Given the description of an element on the screen output the (x, y) to click on. 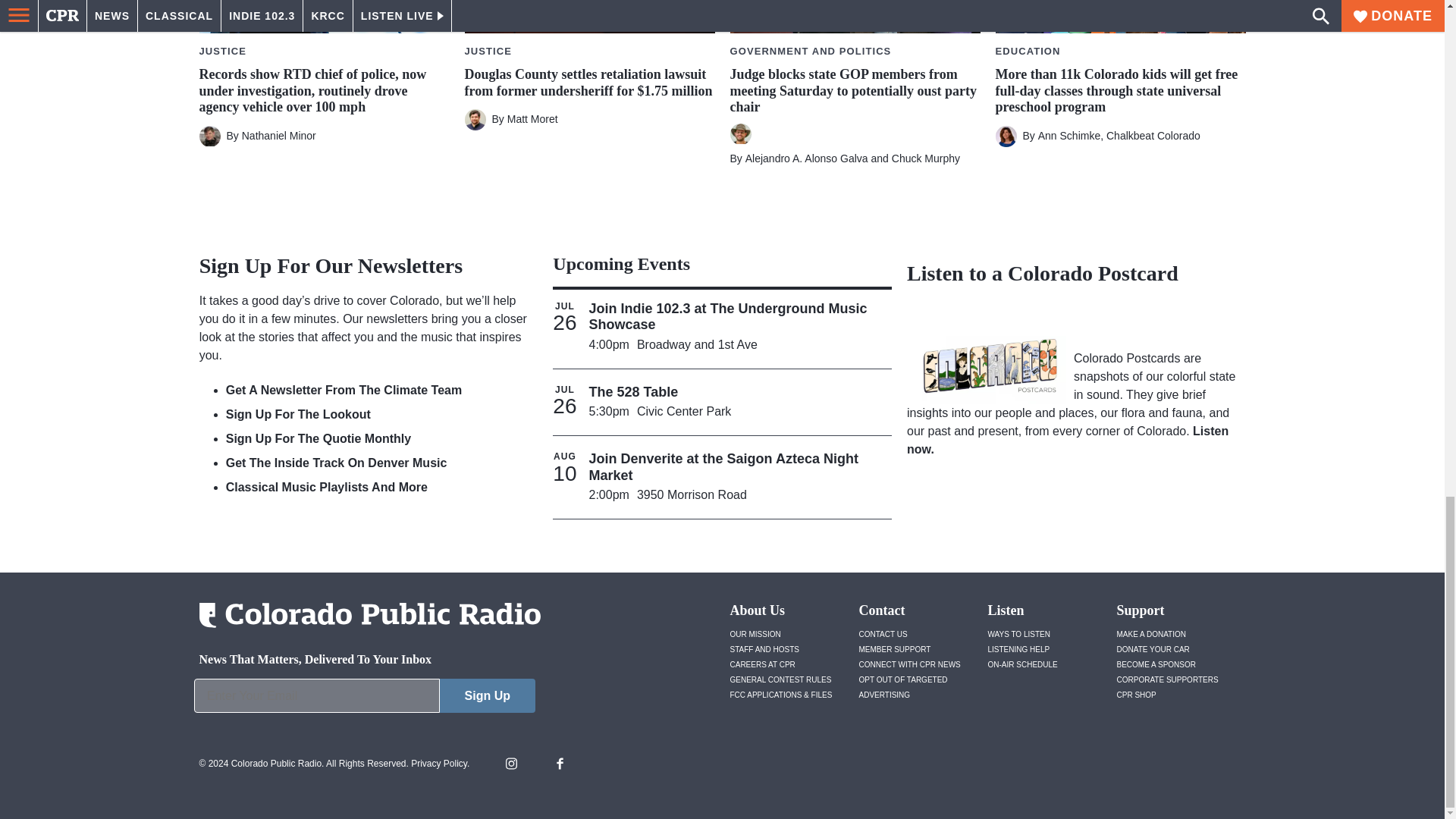
footer (364, 699)
